Given the description of an element on the screen output the (x, y) to click on. 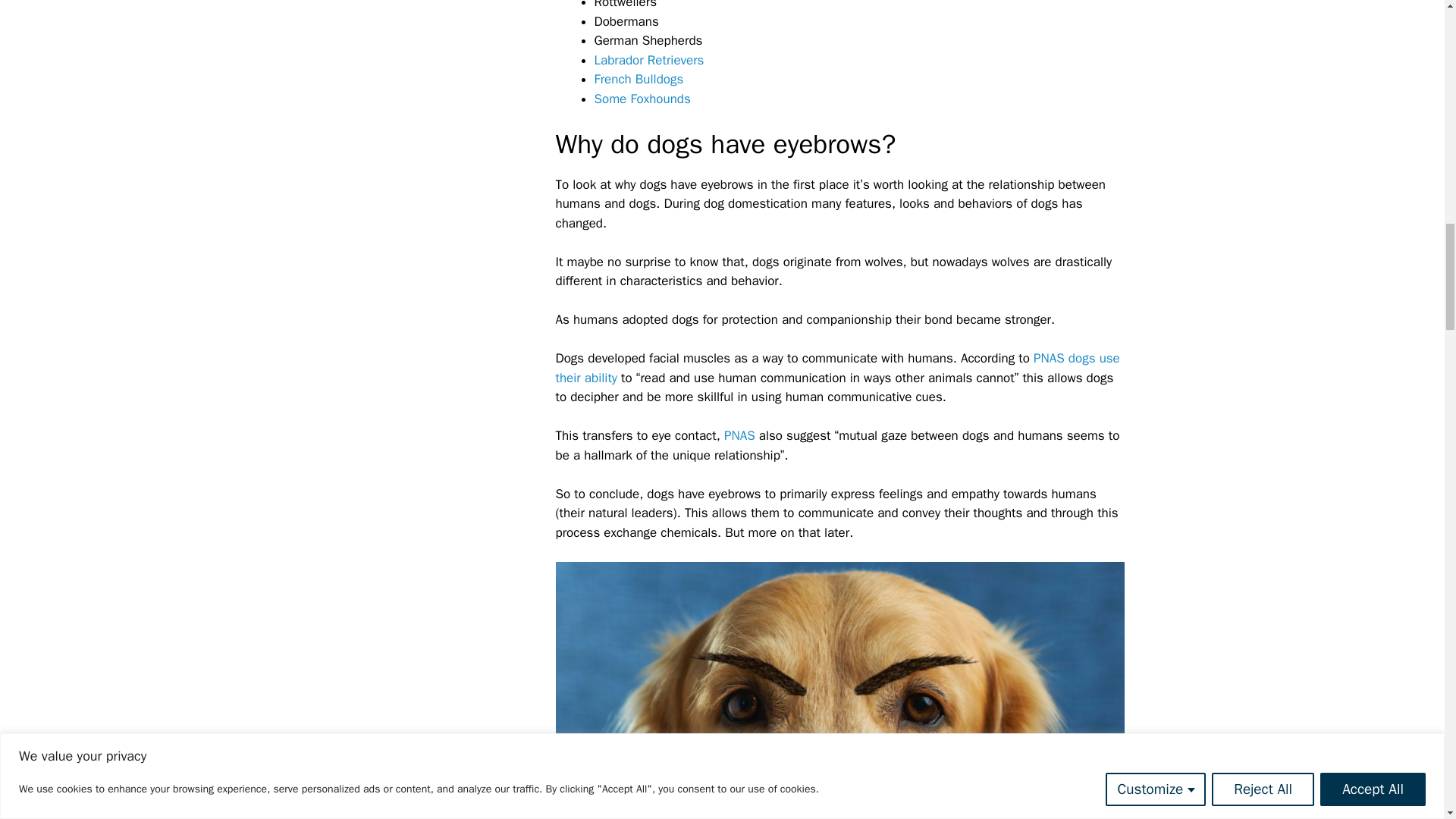
Labrador Retrievers (649, 59)
PNAS dogs use their ability (836, 367)
Some Foxhounds (642, 98)
PNAS (739, 435)
French Bulldogs (639, 78)
